Given the description of an element on the screen output the (x, y) to click on. 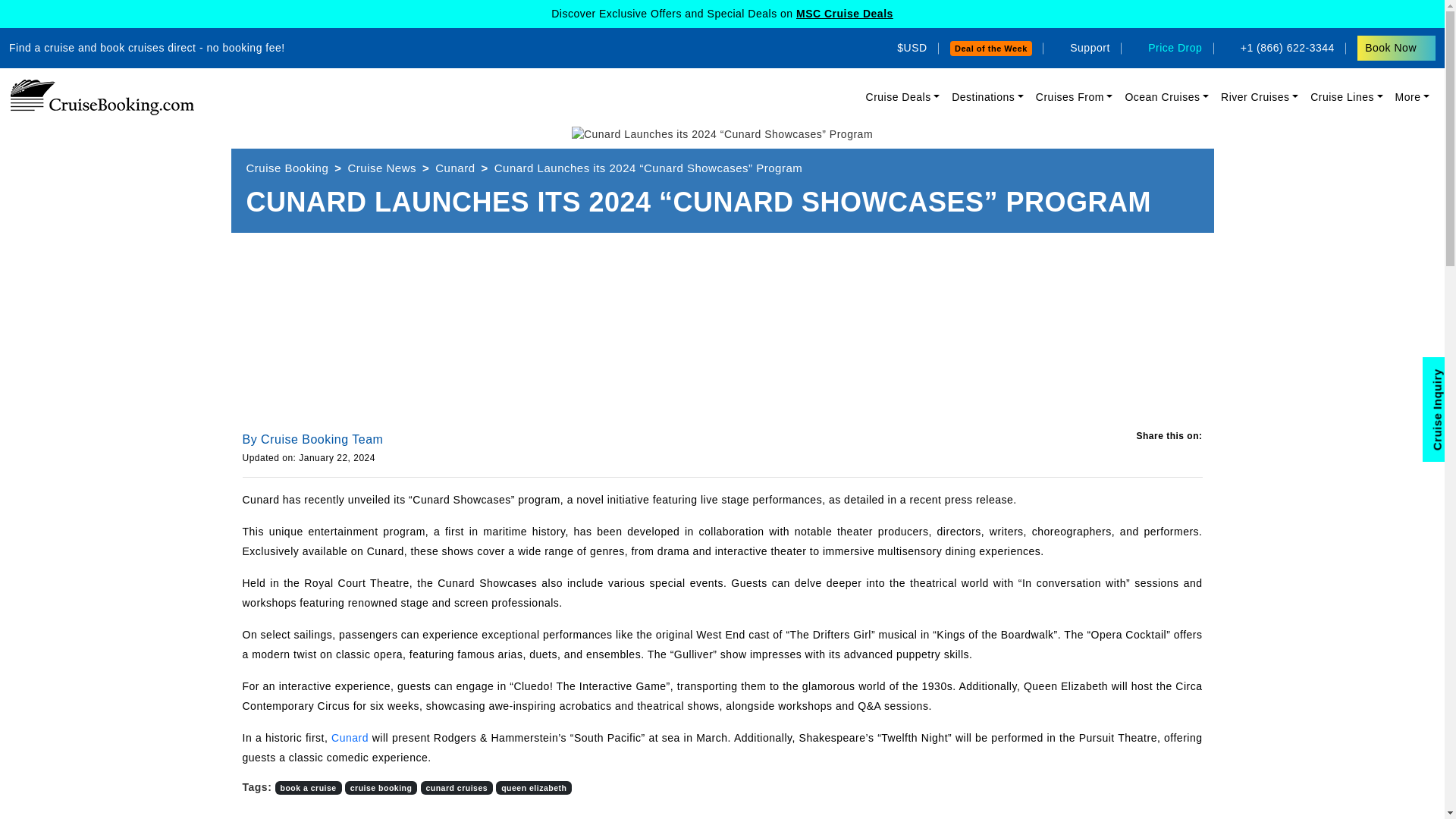
Cruise Destinations (986, 97)
Cruises From (1074, 97)
Cruise Lines (1346, 97)
Price Drop (1167, 47)
Book Now (1395, 48)
Ocean Cruises (1166, 97)
Deal of the Week (991, 48)
Cruise Deals (903, 97)
River Cruises (1259, 97)
MSC Cruise Deals (844, 13)
